Given the description of an element on the screen output the (x, y) to click on. 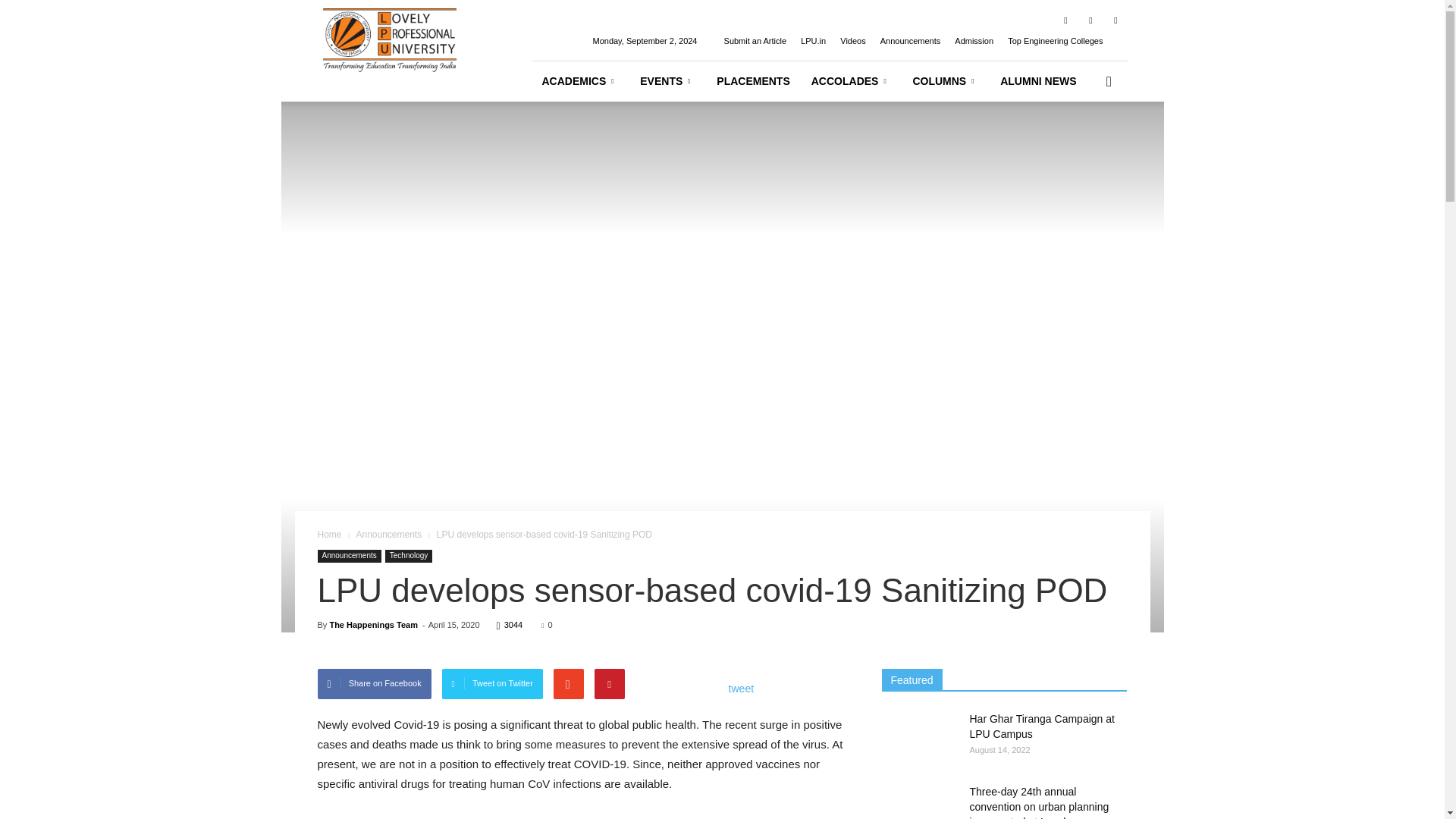
Admission (973, 40)
Facebook (1065, 19)
Youtube (1114, 19)
Submit an Article (755, 40)
LPU.in (812, 40)
Announcements (910, 40)
View all posts in Announcements (388, 534)
Videos (852, 40)
Lovely Professional University (389, 56)
Twitter (1090, 19)
